Given the description of an element on the screen output the (x, y) to click on. 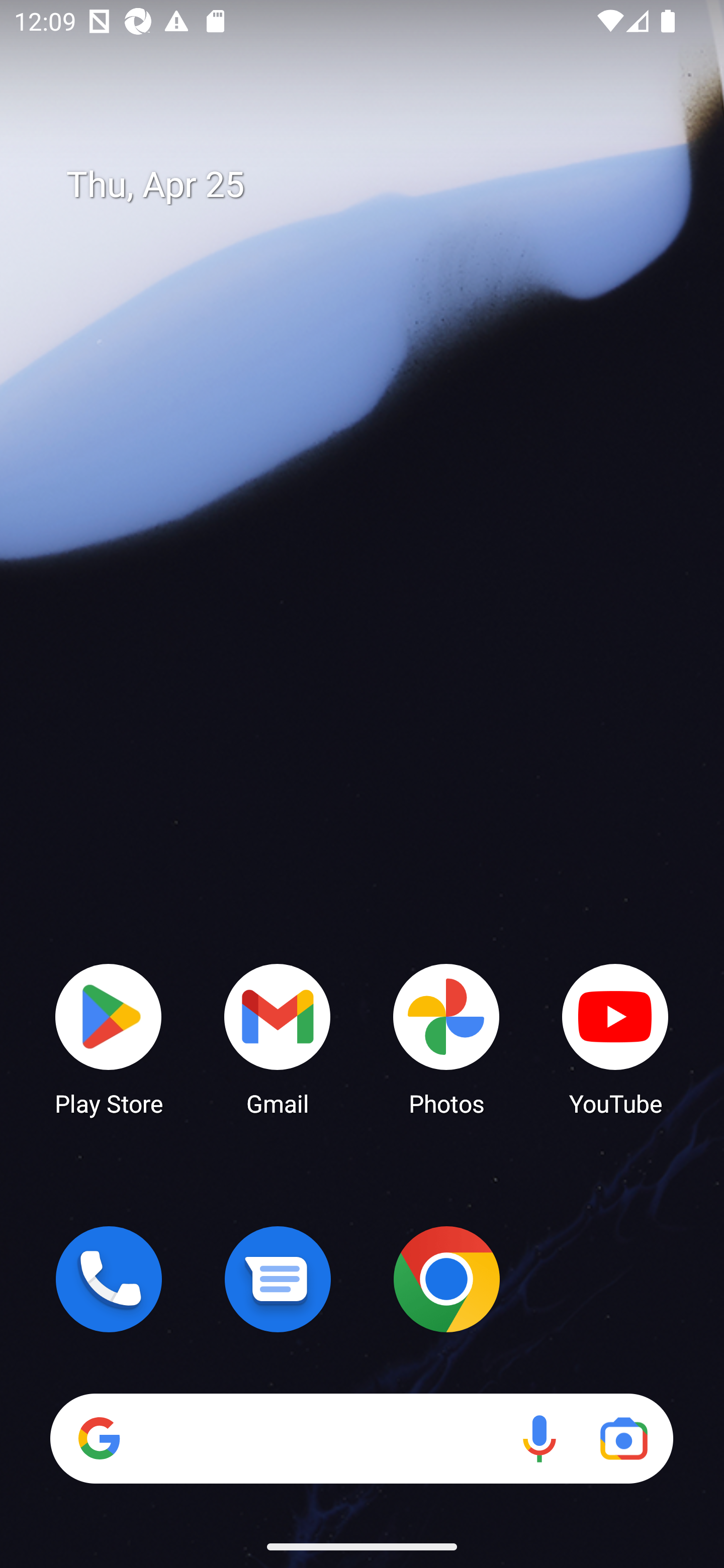
Thu, Apr 25 (375, 184)
Play Store (108, 1038)
Gmail (277, 1038)
Photos (445, 1038)
YouTube (615, 1038)
Phone (108, 1279)
Messages (277, 1279)
Chrome (446, 1279)
Search Voice search Google Lens (361, 1438)
Voice search (539, 1438)
Google Lens (623, 1438)
